Given the description of an element on the screen output the (x, y) to click on. 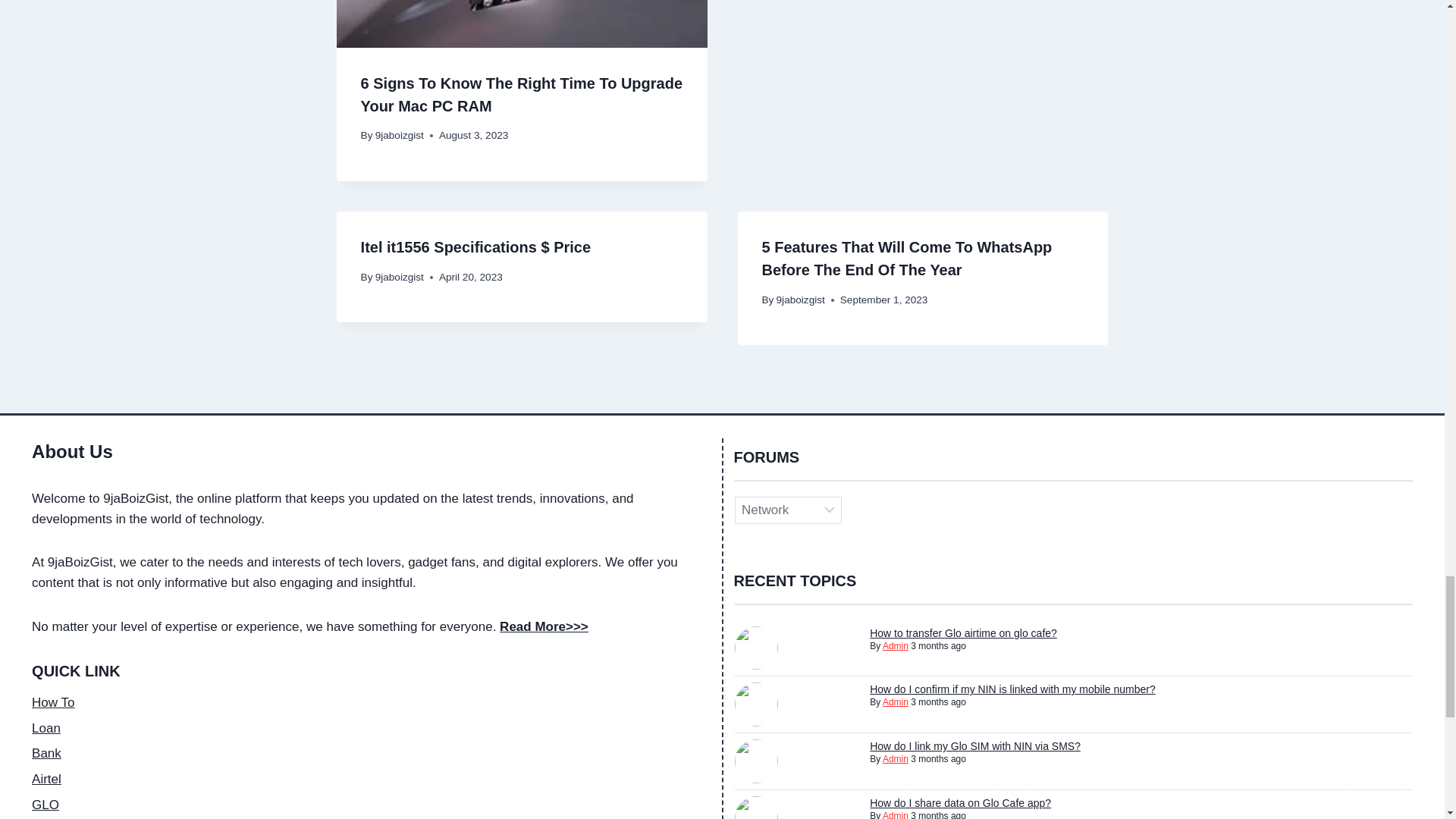
How do I link my Glo SIM with NIN via SMS? (974, 746)
Admin (895, 701)
How do I confirm if my NIN is linked with my mobile number? (1012, 689)
6 Signs To Know The Right Time To Upgrade Your Mac PC RAM 2 (521, 23)
Admin (895, 758)
Admin (895, 645)
How to transfer Glo airtime on glo cafe? (963, 633)
How do I share data on Glo Cafe app? (960, 802)
Admin (895, 814)
